Given the description of an element on the screen output the (x, y) to click on. 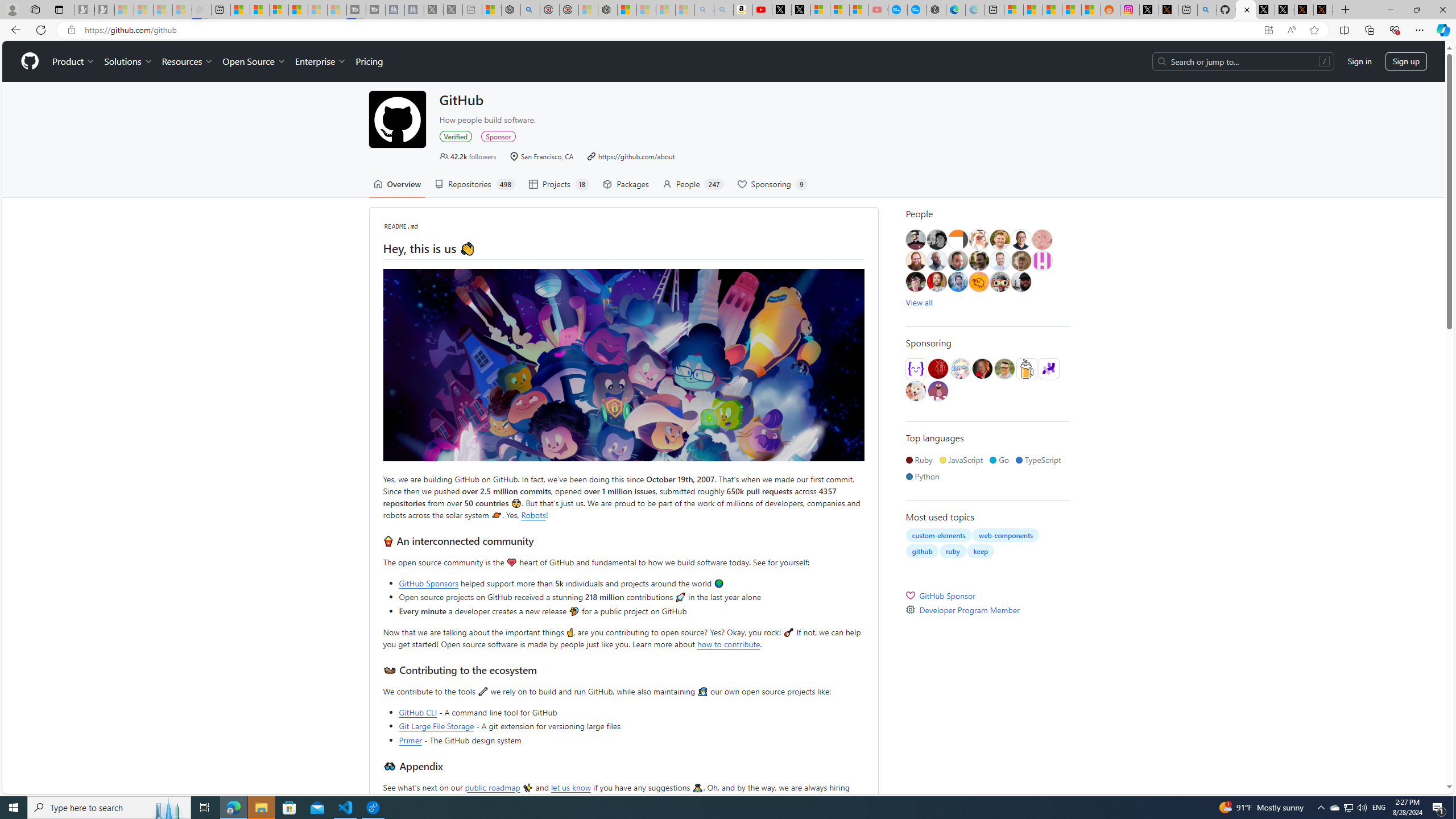
App available. Install GitHub (1268, 29)
Resources (187, 60)
Product (74, 60)
Overview (397, 184)
@northrup (1020, 281)
@digitarald (936, 281)
@knsv (982, 368)
https://github.com/about (630, 156)
Sign up (1406, 61)
@zerowidth (936, 260)
